Given the description of an element on the screen output the (x, y) to click on. 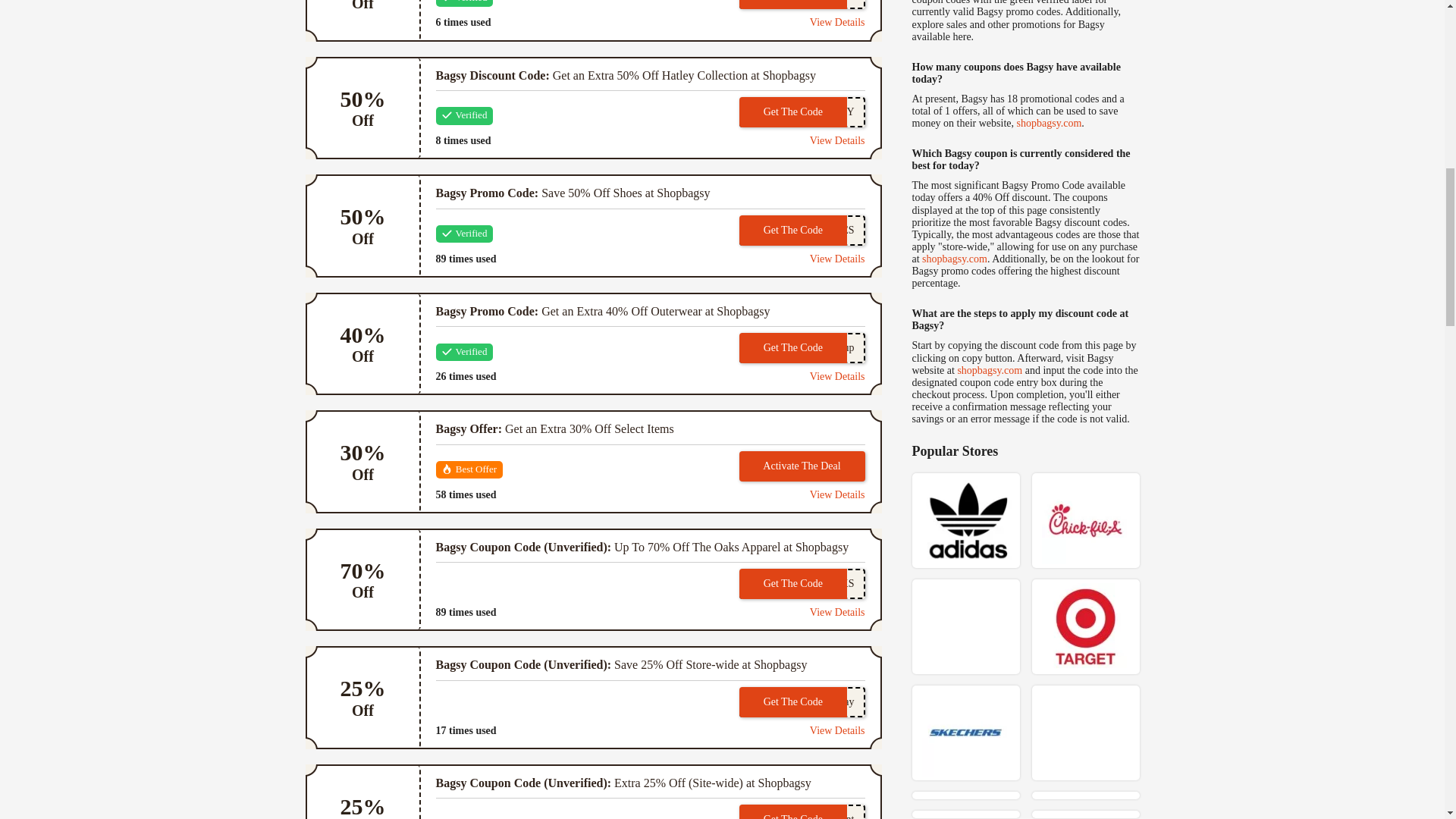
View Details (801, 230)
View Details (836, 494)
View Details (836, 258)
View Details (801, 347)
Activate The Deal (801, 583)
View Details (836, 140)
View Details (801, 112)
View Details (801, 4)
